Given the description of an element on the screen output the (x, y) to click on. 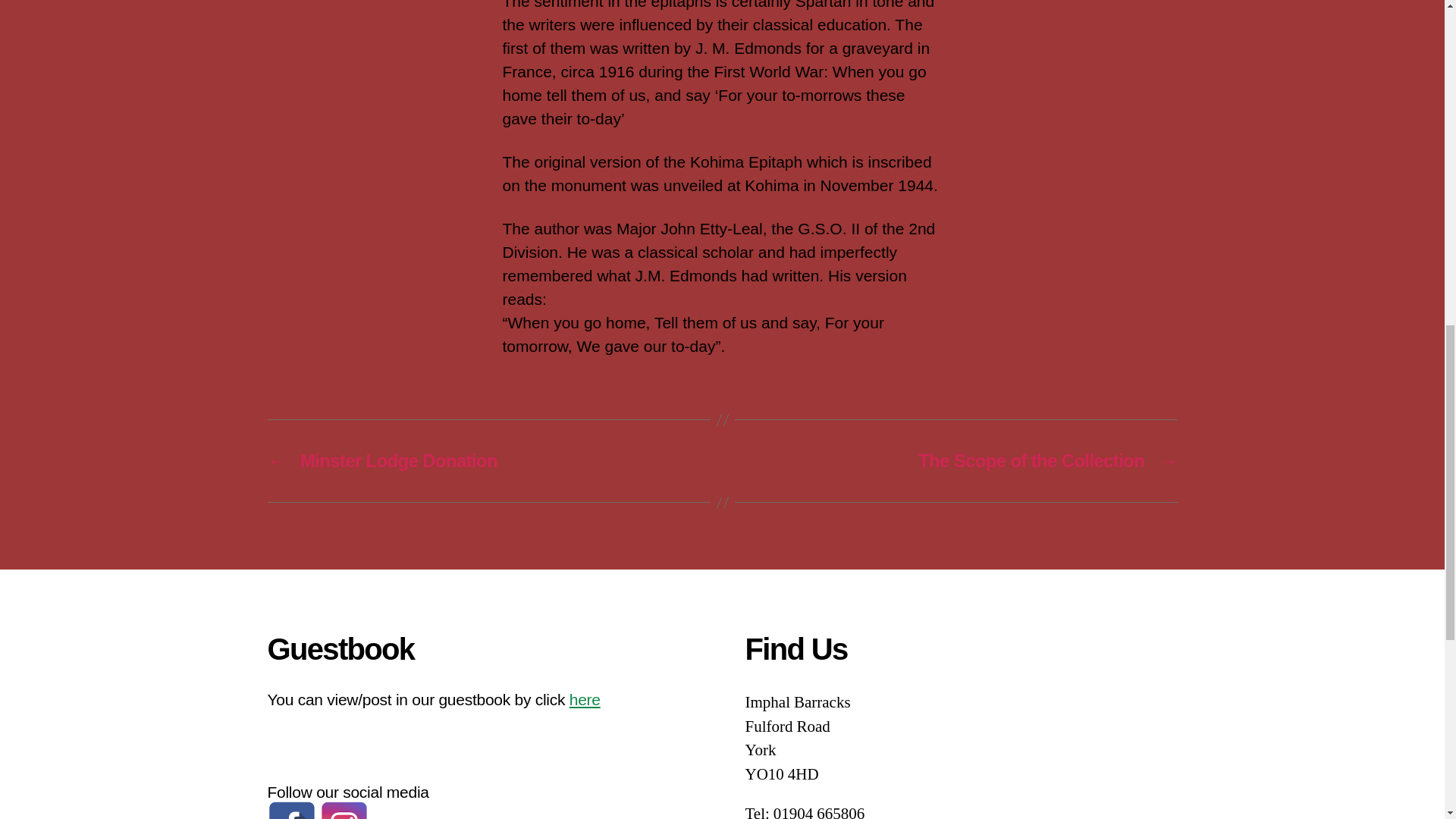
Instagram (344, 810)
Facebook (290, 810)
